Given the description of an element on the screen output the (x, y) to click on. 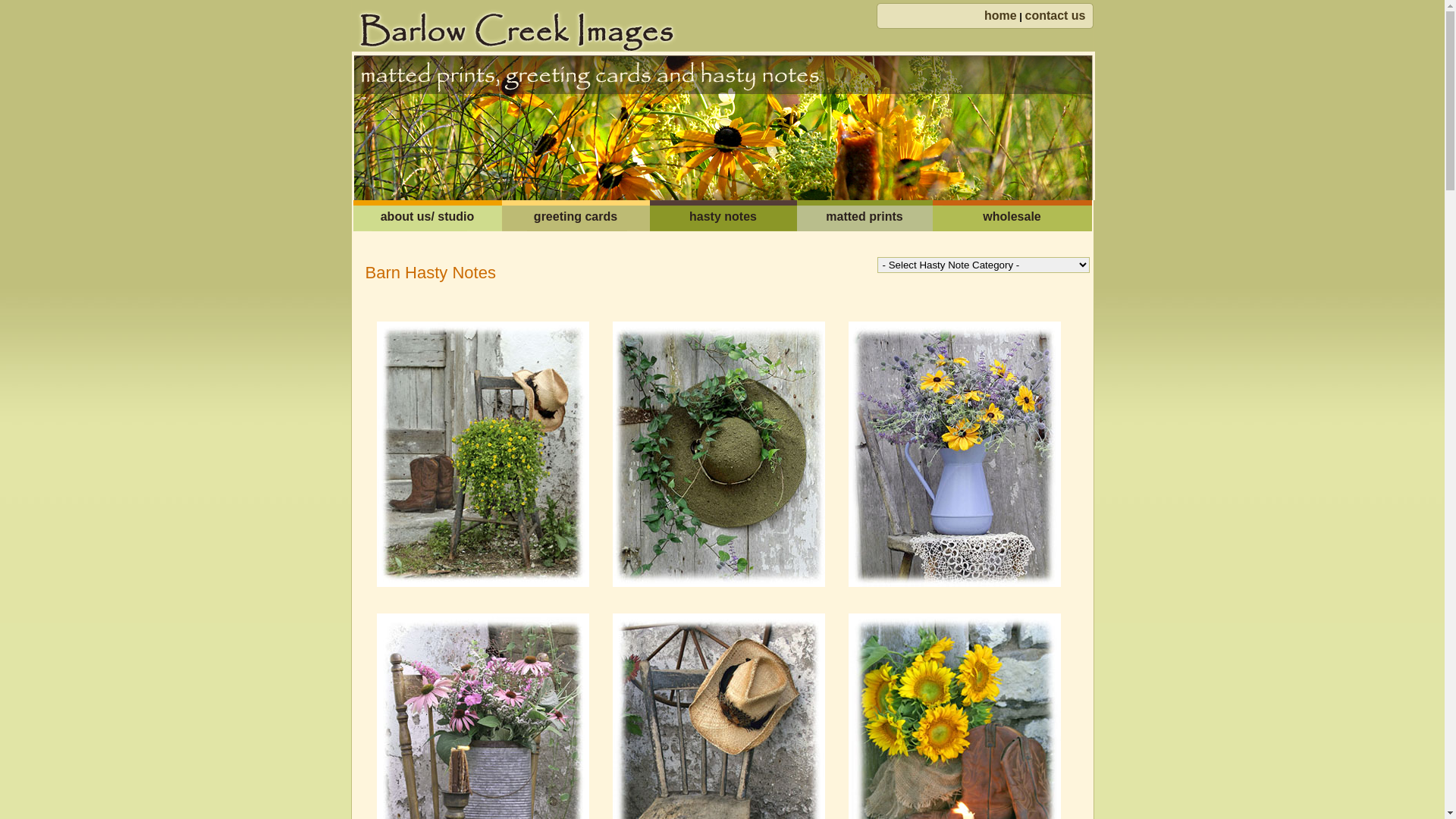
about us/ studio Element type: text (427, 215)
matted prints Element type: text (863, 215)
hasty notes Element type: text (722, 215)
contact us Element type: text (1054, 15)
home Element type: text (1000, 15)
greeting cards Element type: text (575, 215)
wholesale Element type: text (1012, 215)
